Given the description of an element on the screen output the (x, y) to click on. 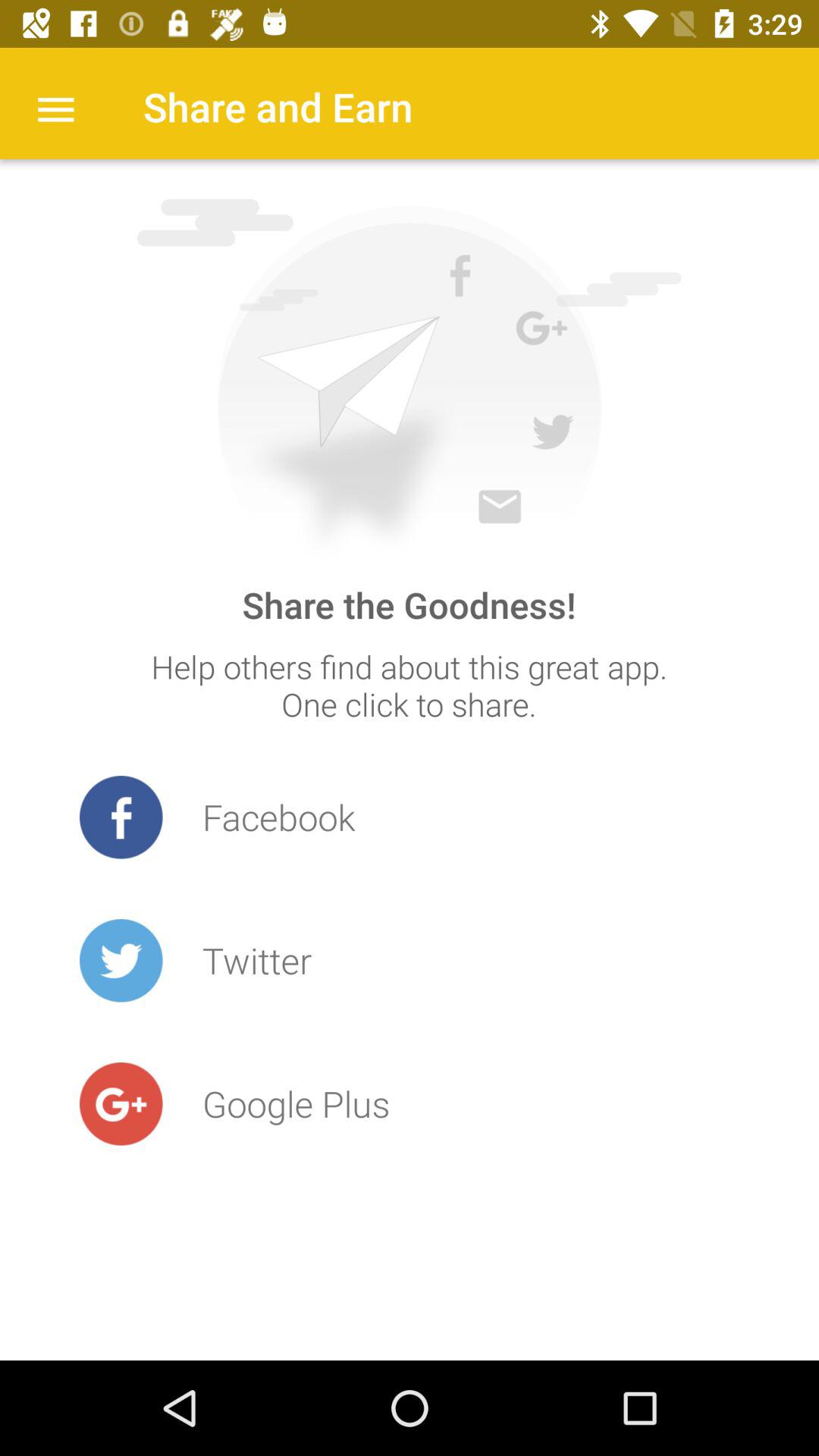
select the item to the left of share and earn icon (55, 107)
